Given the description of an element on the screen output the (x, y) to click on. 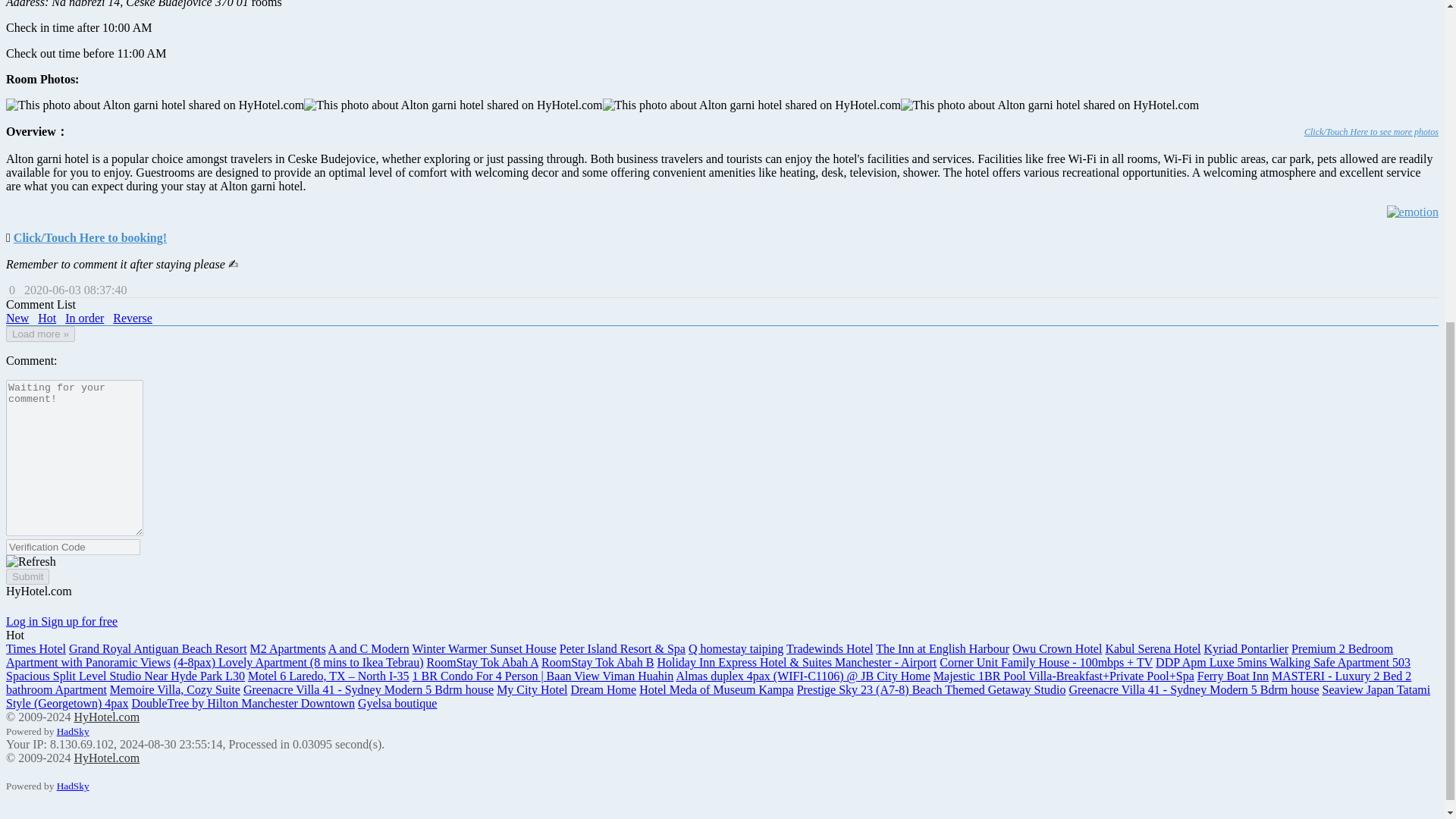
Submit (27, 576)
Refresh (30, 561)
Kabul Serena Hotel (1152, 649)
RoomStay Tok Abah B (597, 662)
Q homestay taiping (735, 649)
Sign up for free (78, 621)
Kyriad Pontarlier (1246, 649)
Times Hotel (35, 649)
M2 Apartments (288, 649)
RoomStay Tok Abah A (482, 662)
